Given the description of an element on the screen output the (x, y) to click on. 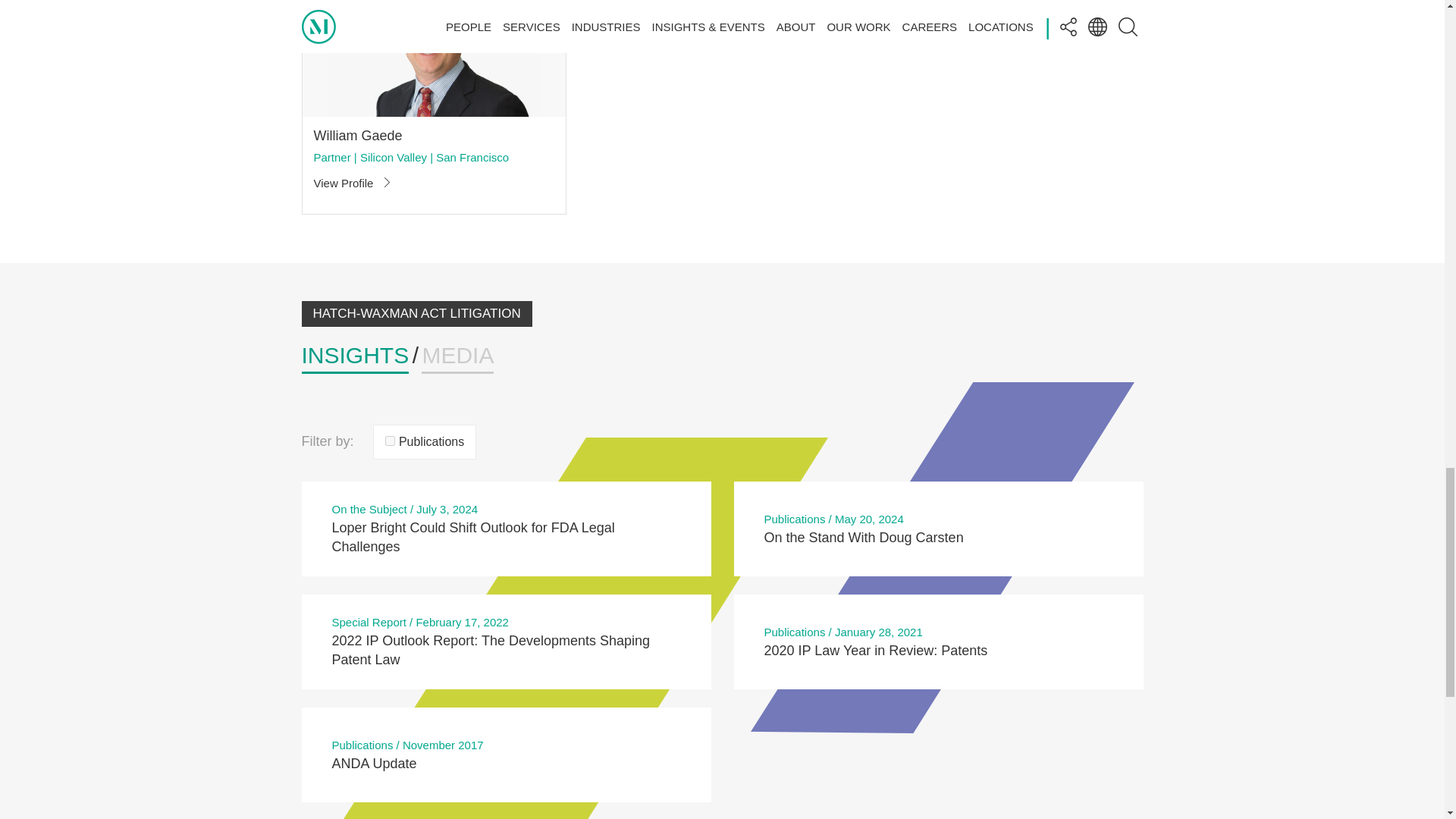
277 (389, 440)
